Given the description of an element on the screen output the (x, y) to click on. 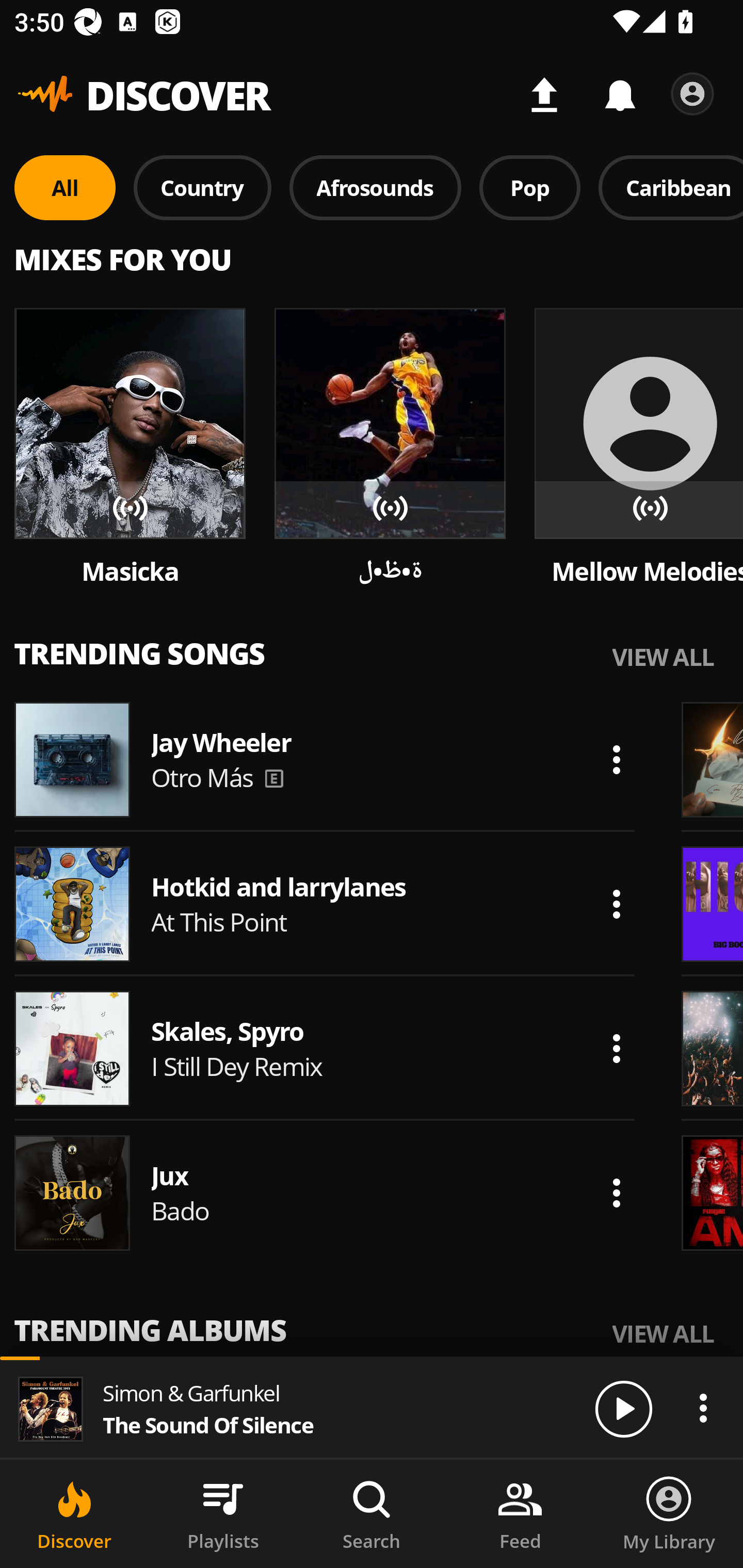
Settings (692, 94)
All (64, 187)
Country (202, 187)
Afrosounds (375, 187)
Pop (529, 187)
Caribbean (670, 187)
Song artwork Song artwork Song artwork Masicka (129, 447)
Song artwork Song artwork Song artwork ة•ظ•ل (389, 447)
VIEW ALL (663, 655)
Song artwork Jay Wheeler Otro Más    Actions (324, 759)
Actions (616, 759)
Actions (616, 903)
Actions (616, 1048)
Song artwork Jux Bado Actions (324, 1193)
Actions (616, 1193)
VIEW ALL (663, 1333)
Actions (703, 1407)
Play/Pause (623, 1408)
Discover (74, 1513)
Playlists (222, 1513)
Search (371, 1513)
Feed (519, 1513)
My Library (668, 1513)
